Given the description of an element on the screen output the (x, y) to click on. 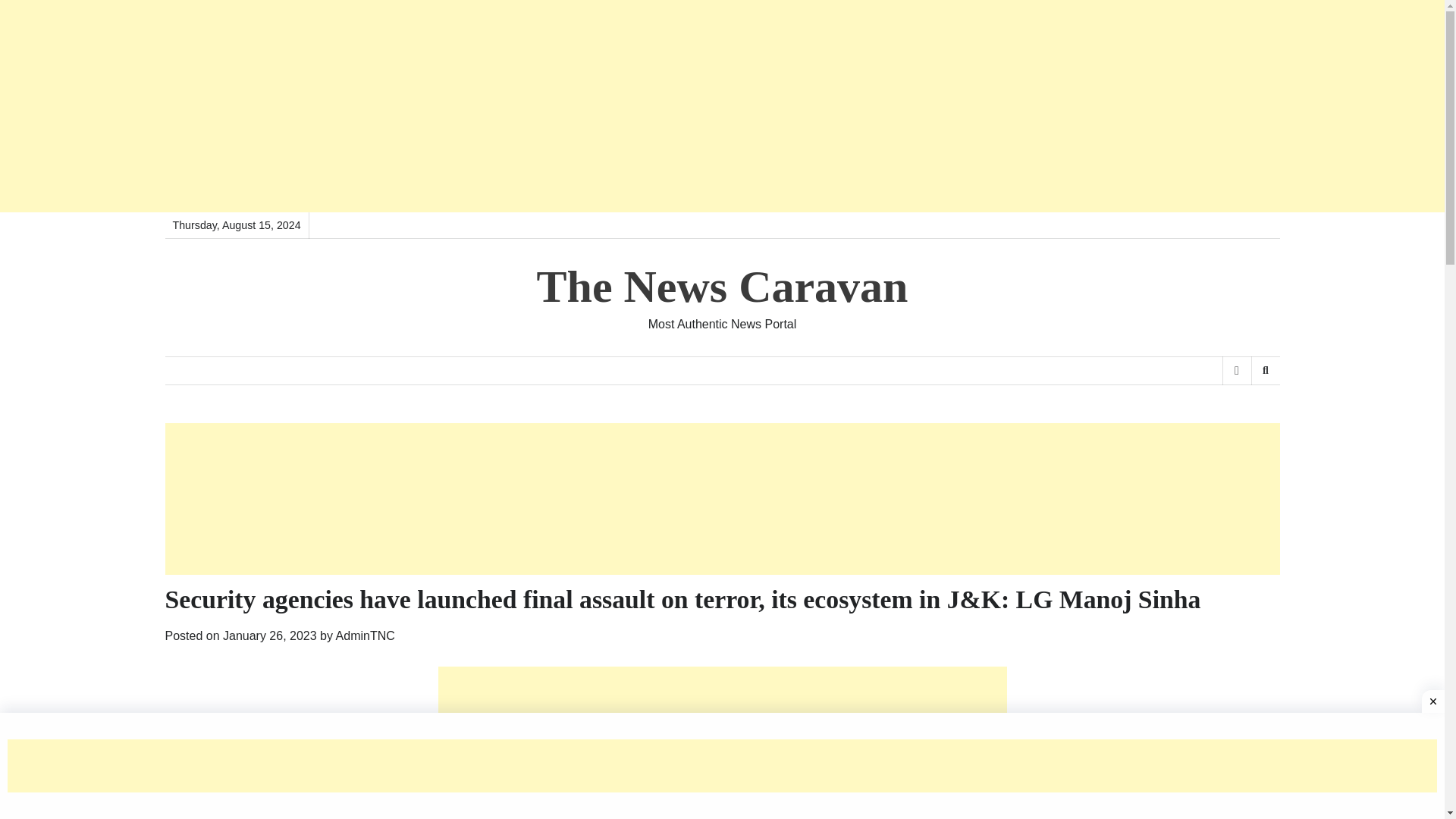
Search (1240, 410)
January 26, 2023 (269, 635)
Search (1264, 370)
View Random Post (1236, 370)
Advertisement (722, 742)
The News Caravan (722, 286)
AdminTNC (365, 635)
